Given the description of an element on the screen output the (x, y) to click on. 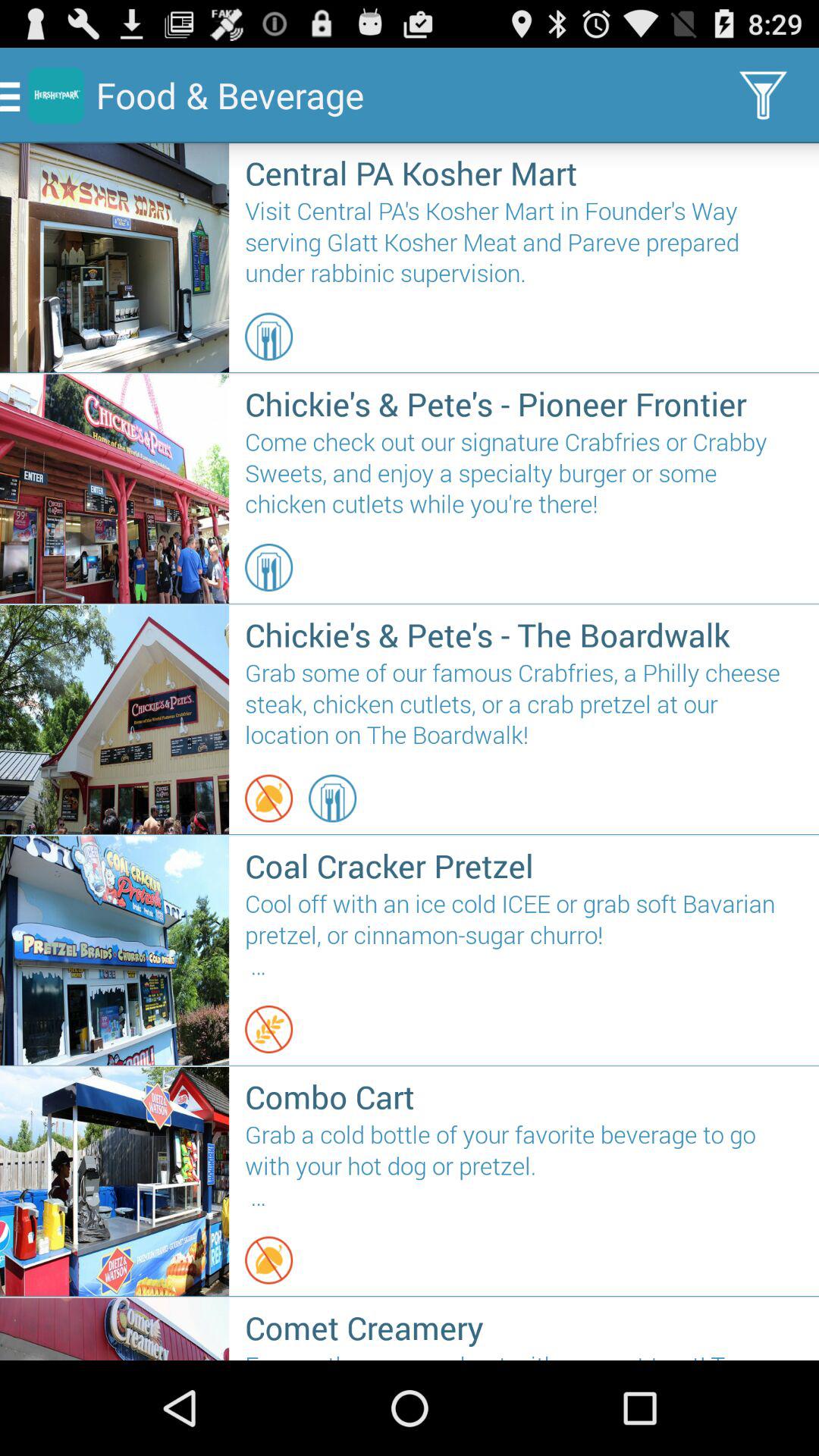
tap the icon above chickie s pete (268, 336)
